Given the description of an element on the screen output the (x, y) to click on. 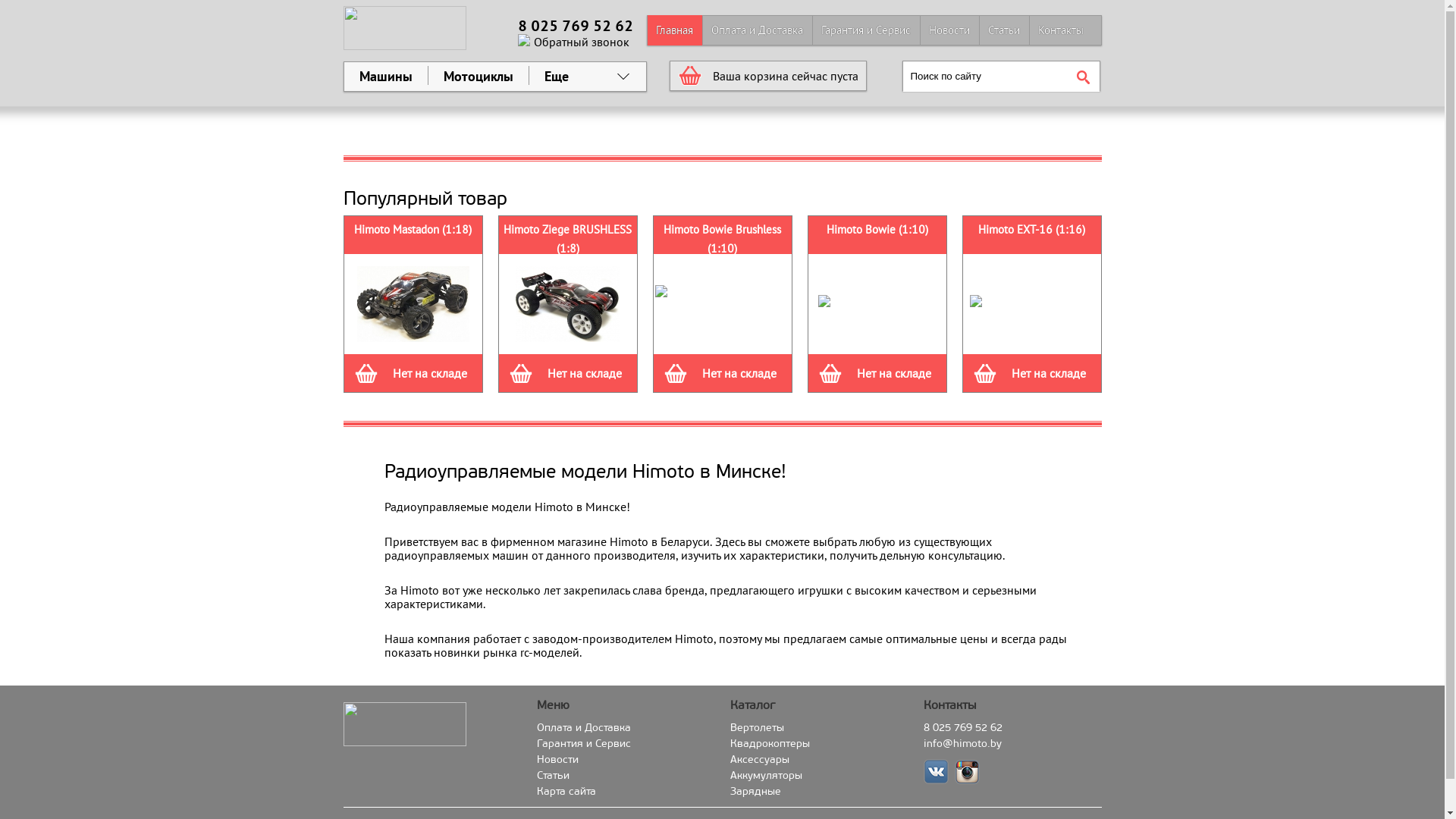
Himoto EXT-16 (1:16) Element type: text (1031, 228)
Himoto Bowie Brushless (1:10) Element type: text (722, 238)
Himoto Mastadon (1:18) Element type: text (412, 228)
Himoto Ziege BRUSHLESS (1:8) Element type: text (567, 238)
Himoto Bowie (1:10) Element type: text (877, 228)
